Given the description of an element on the screen output the (x, y) to click on. 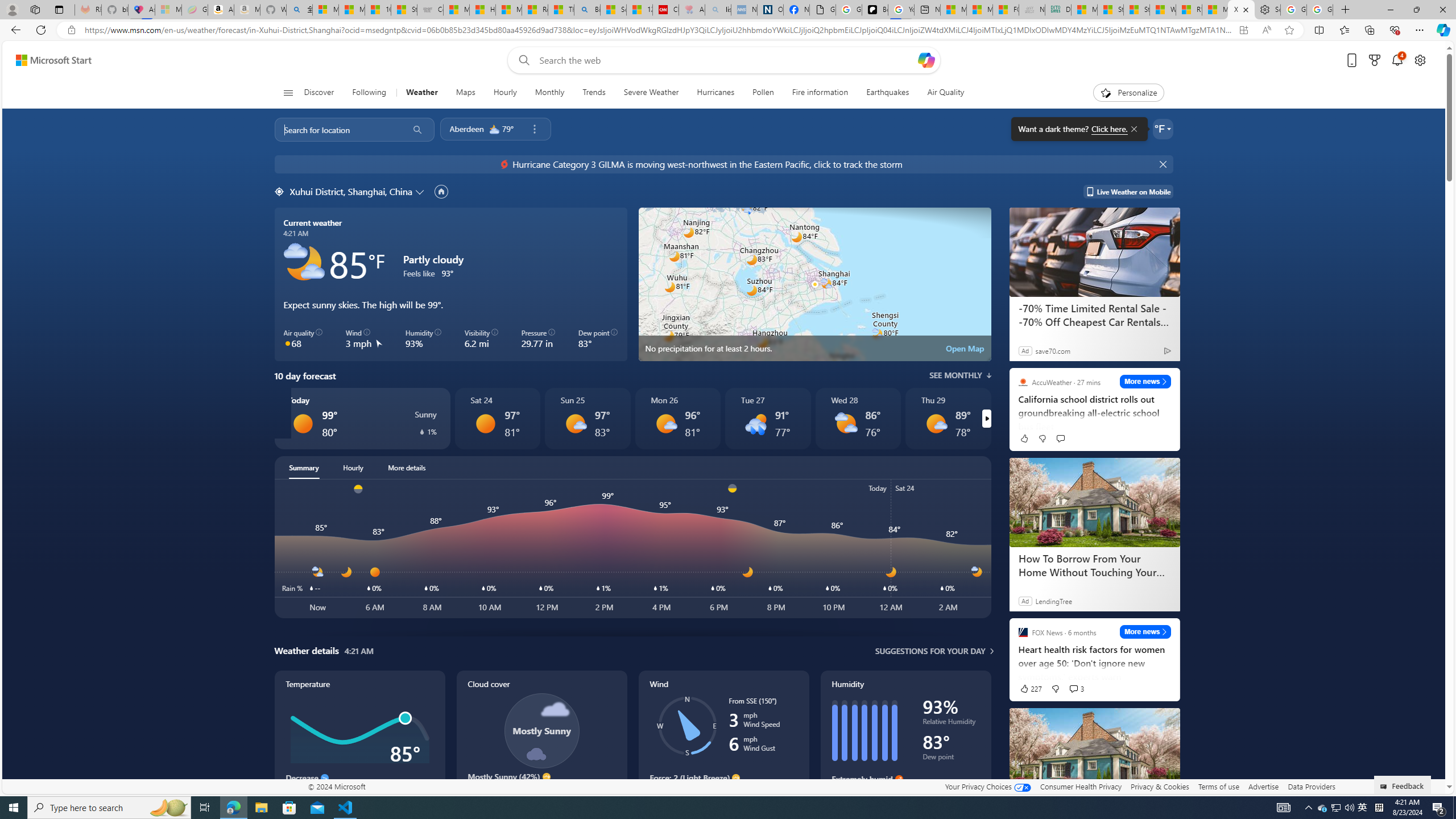
Pressure 29.77 in (538, 338)
Remove location (534, 128)
Air Quality (945, 92)
Trends (593, 92)
Asthma Inhalers: Names and Types (141, 9)
Precipitation (656, 225)
